Given the description of an element on the screen output the (x, y) to click on. 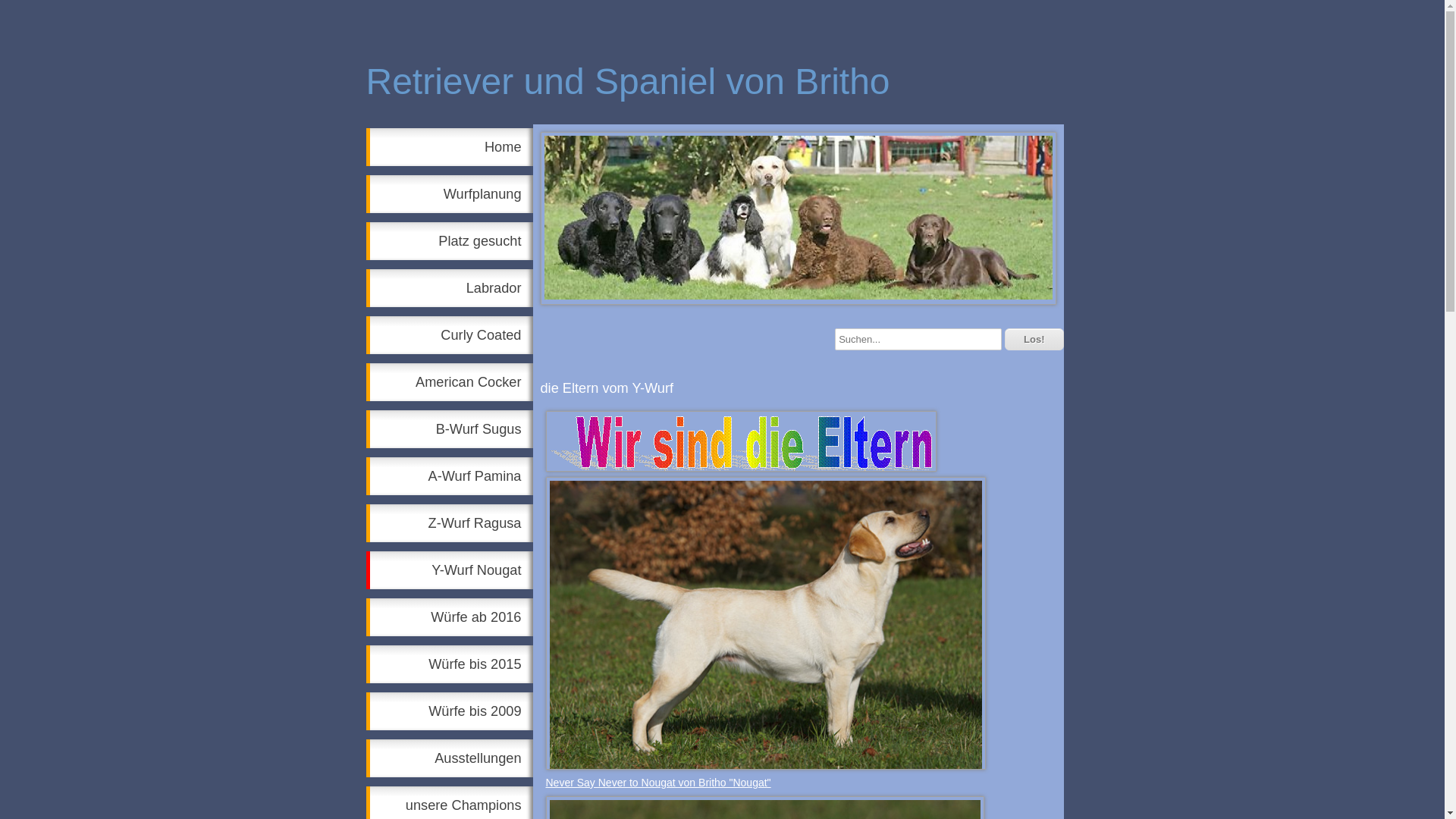
Wurfplanung Element type: text (448, 194)
Y-Wurf Nougat Element type: text (448, 570)
B-Wurf Sugus Element type: text (448, 429)
American Cocker Element type: text (448, 382)
Never Say Never to Nougat von Britho "Nougat" Element type: text (658, 782)
Home Element type: text (448, 147)
Curly Coated Element type: text (448, 335)
Z-Wurf Ragusa Element type: text (448, 523)
Retriever und Spaniel von Britho Element type: text (717, 99)
Ausstellungen Element type: text (448, 758)
A-Wurf Pamina Element type: text (448, 476)
Platz gesucht Element type: text (448, 241)
Los! Element type: text (1033, 339)
Labrador Element type: text (448, 288)
